Given the description of an element on the screen output the (x, y) to click on. 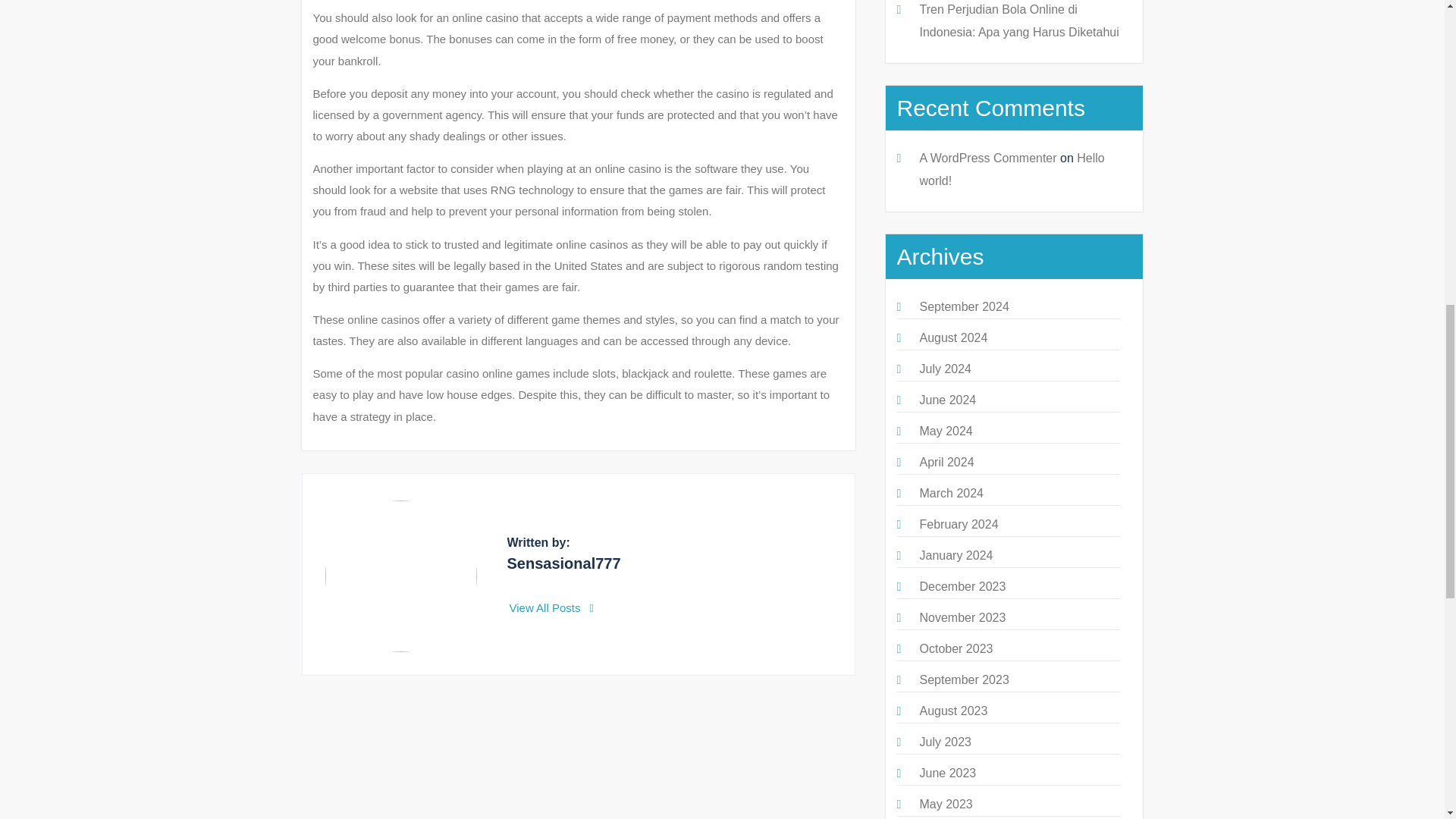
February 2024 (957, 523)
January 2024 (955, 554)
November 2023 (962, 617)
September 2024 (963, 306)
August 2023 (952, 710)
May 2024 (945, 431)
March 2024 (951, 492)
September 2023 (963, 679)
December 2023 (962, 585)
